Given the description of an element on the screen output the (x, y) to click on. 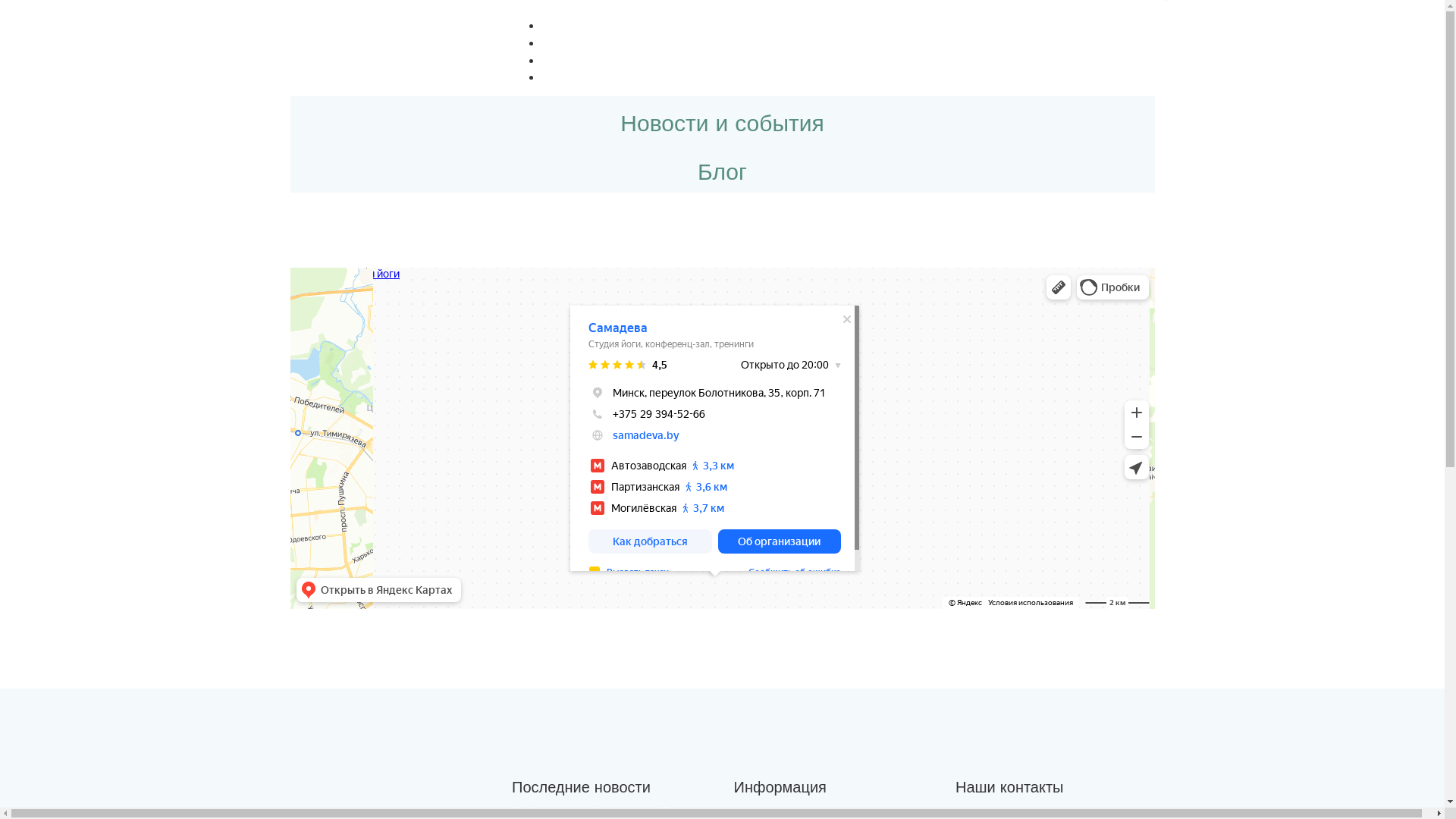
Menu Element type: hover (516, 8)
